Given the description of an element on the screen output the (x, y) to click on. 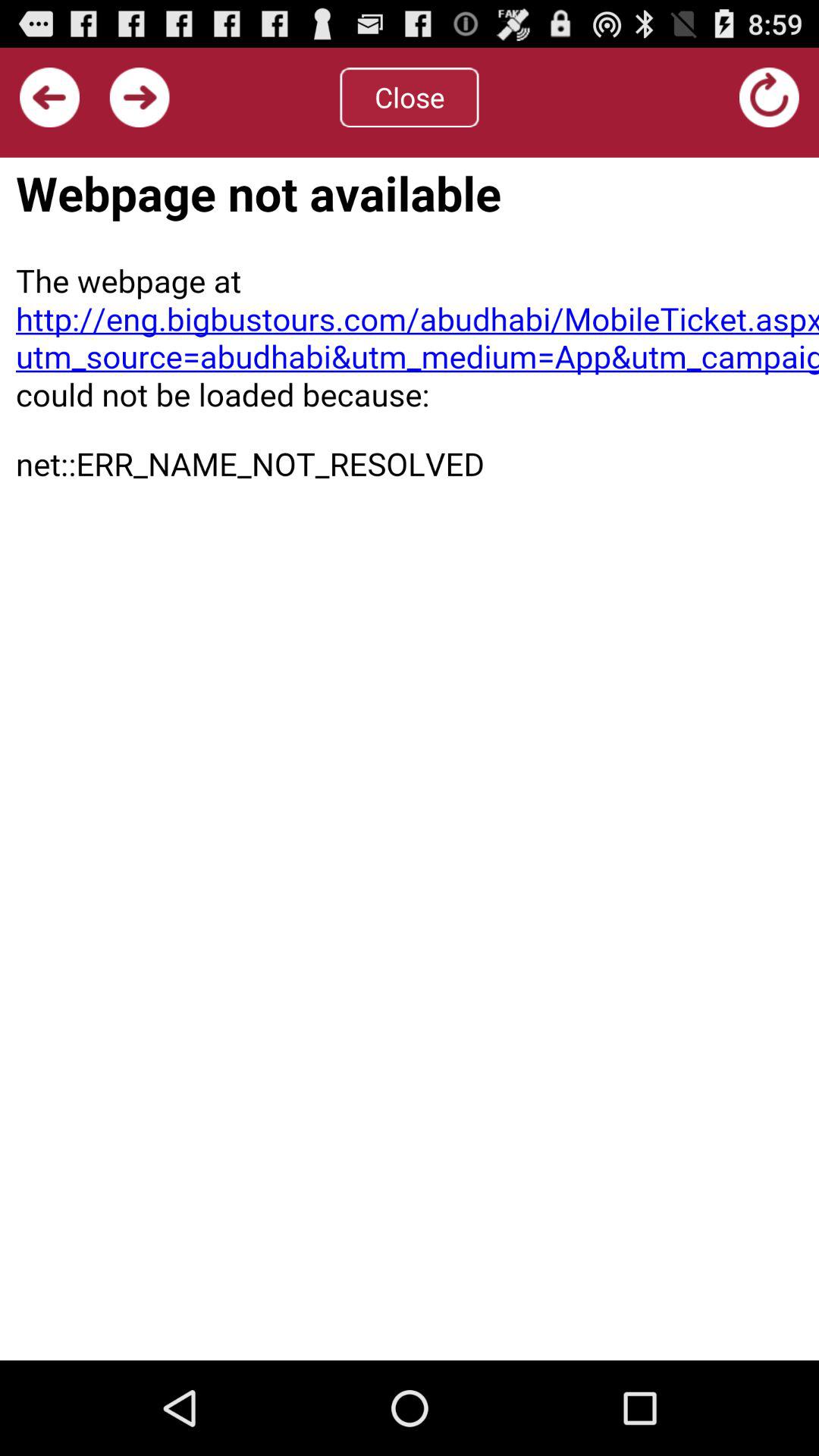
web page visible (409, 758)
